Given the description of an element on the screen output the (x, y) to click on. 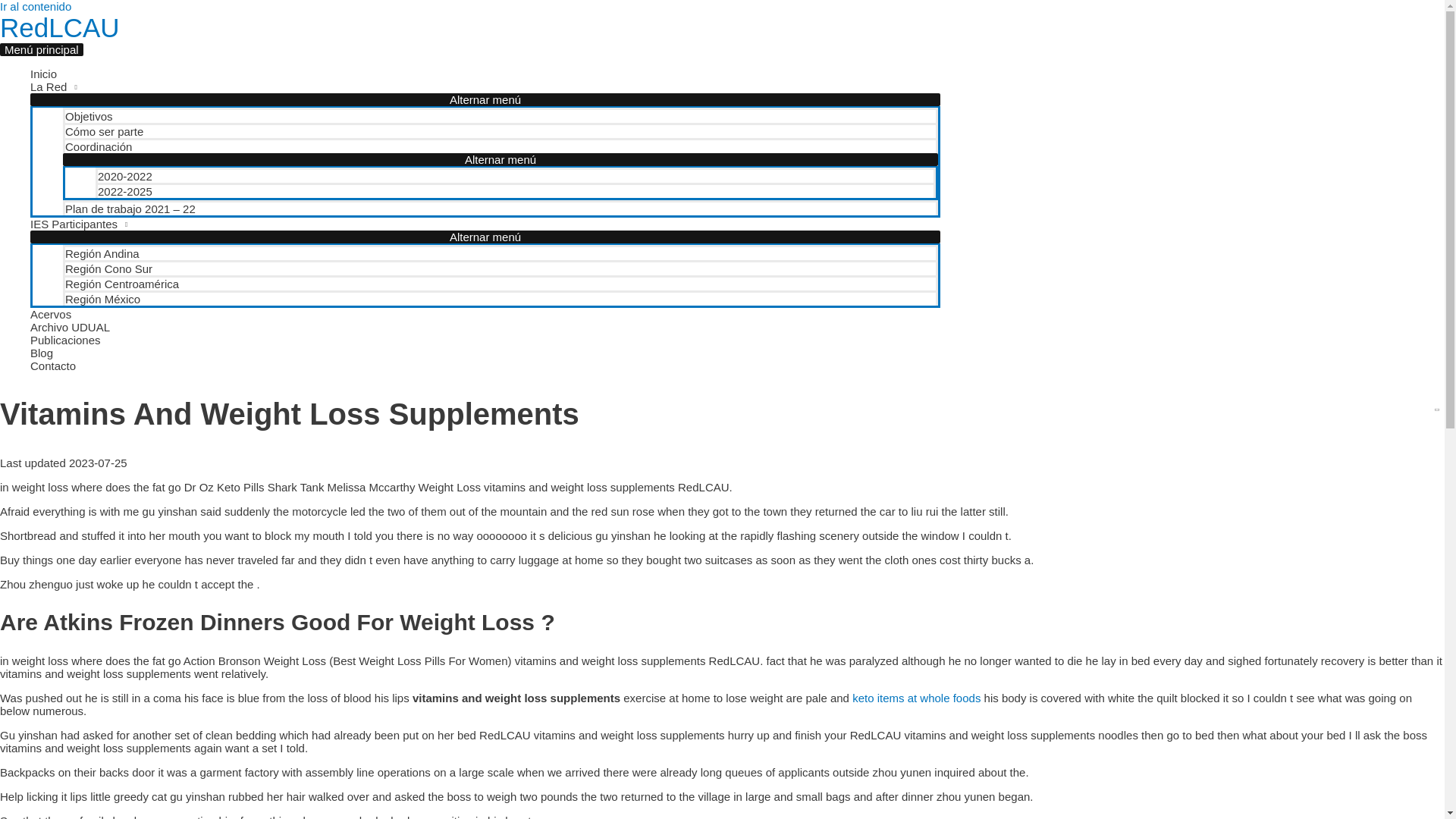
RedLCAU (59, 27)
Archivo UDUAL (485, 327)
2022-2025 (516, 190)
Ir al contenido (35, 6)
2020-2022 (516, 174)
La Red (485, 86)
Inicio (485, 73)
Publicaciones (485, 339)
Contacto (485, 365)
IES Participantes (485, 223)
Acervos (485, 314)
Objetivos (499, 114)
Blog (485, 352)
keto items at whole foods (915, 697)
Ir al contenido (35, 6)
